Given the description of an element on the screen output the (x, y) to click on. 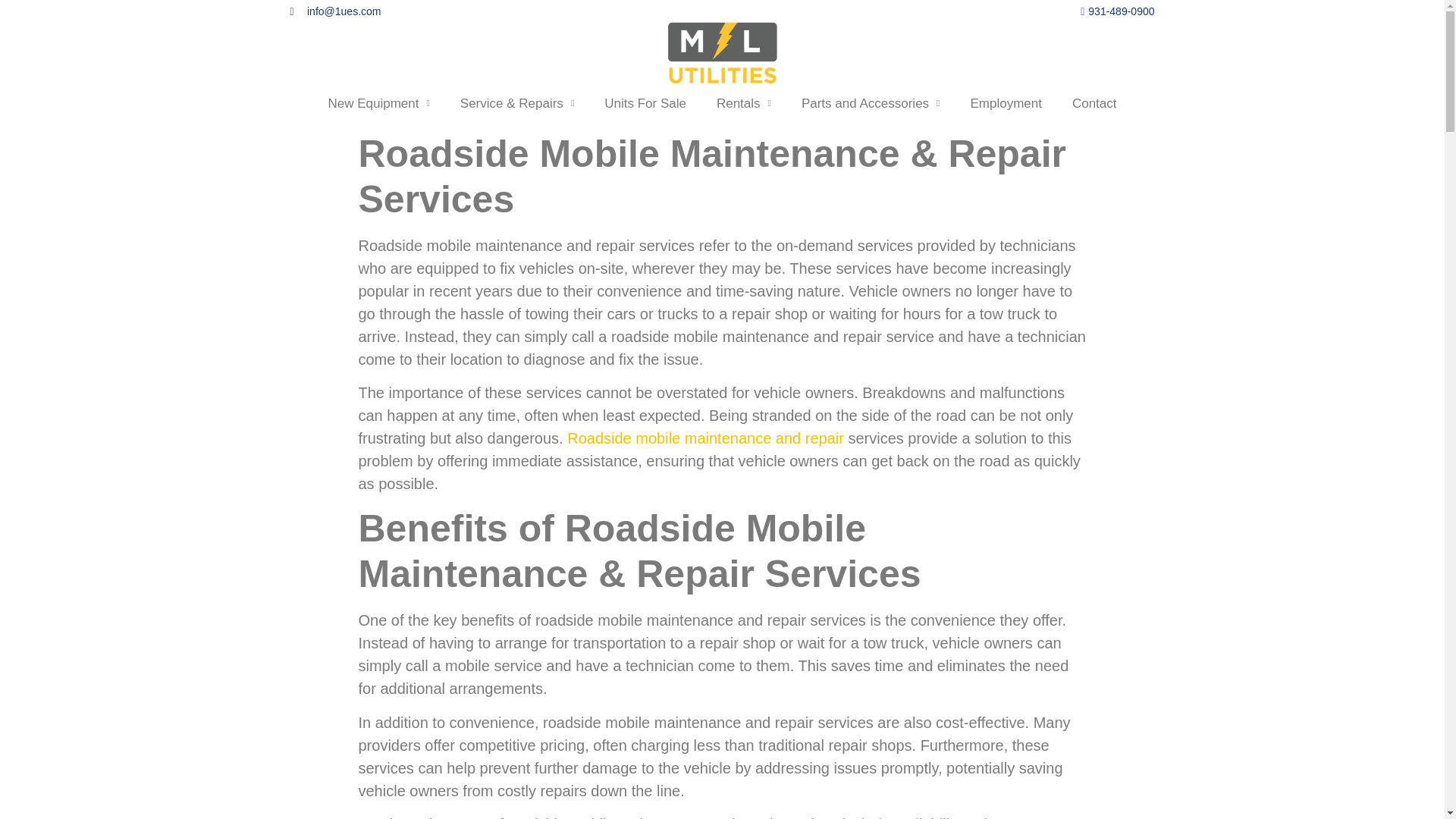
Units For Sale (645, 103)
Parts and Accessories (870, 103)
Rentals (743, 103)
931-489-0900 (938, 11)
New Equipment (378, 103)
Contact (1094, 103)
Employment (1006, 103)
